Given the description of an element on the screen output the (x, y) to click on. 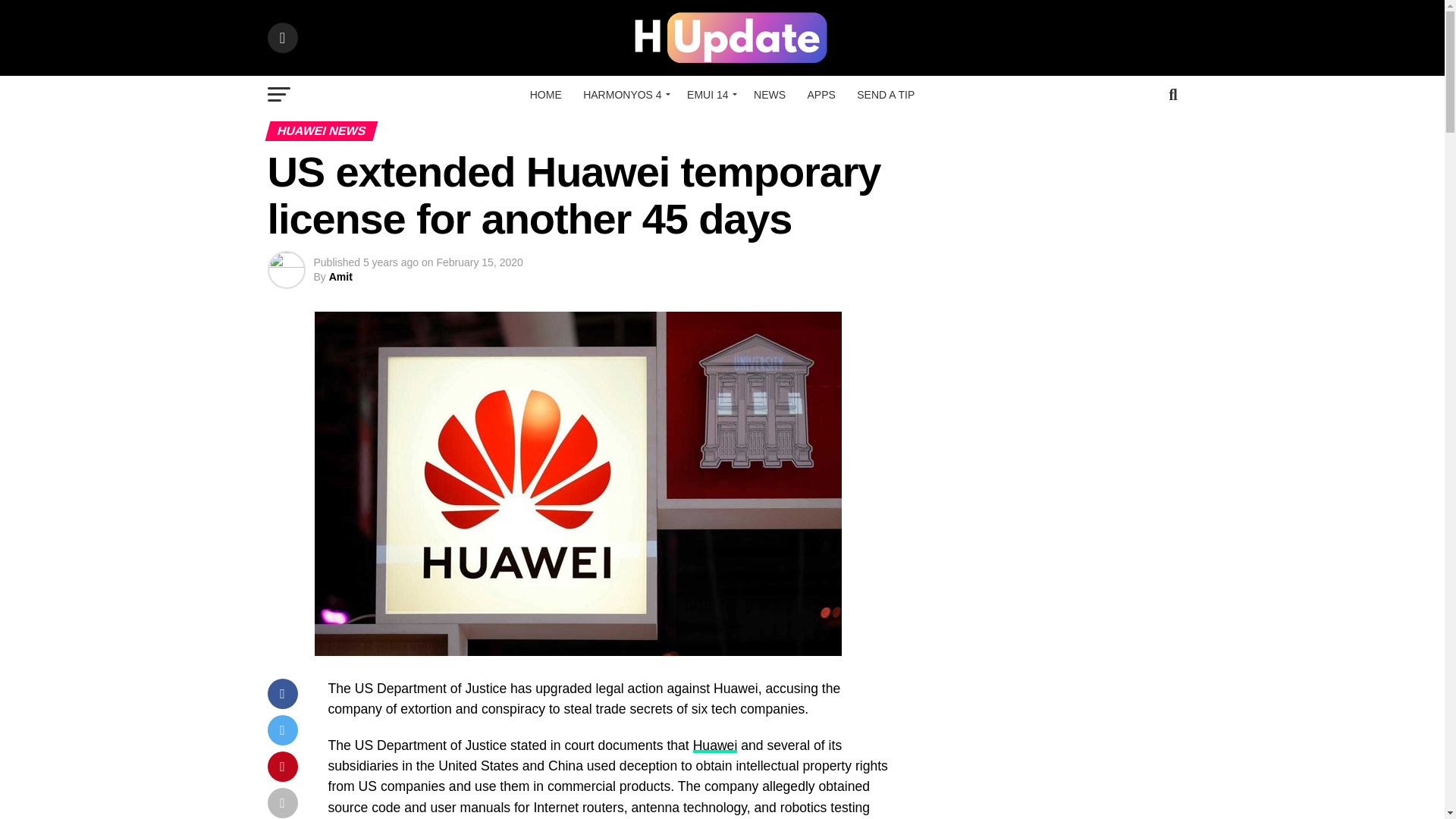
Posts by Amit (340, 276)
NEWS (769, 94)
HARMONYOS 4 (623, 94)
EMUI 14 (709, 94)
HOME (545, 94)
